Given the description of an element on the screen output the (x, y) to click on. 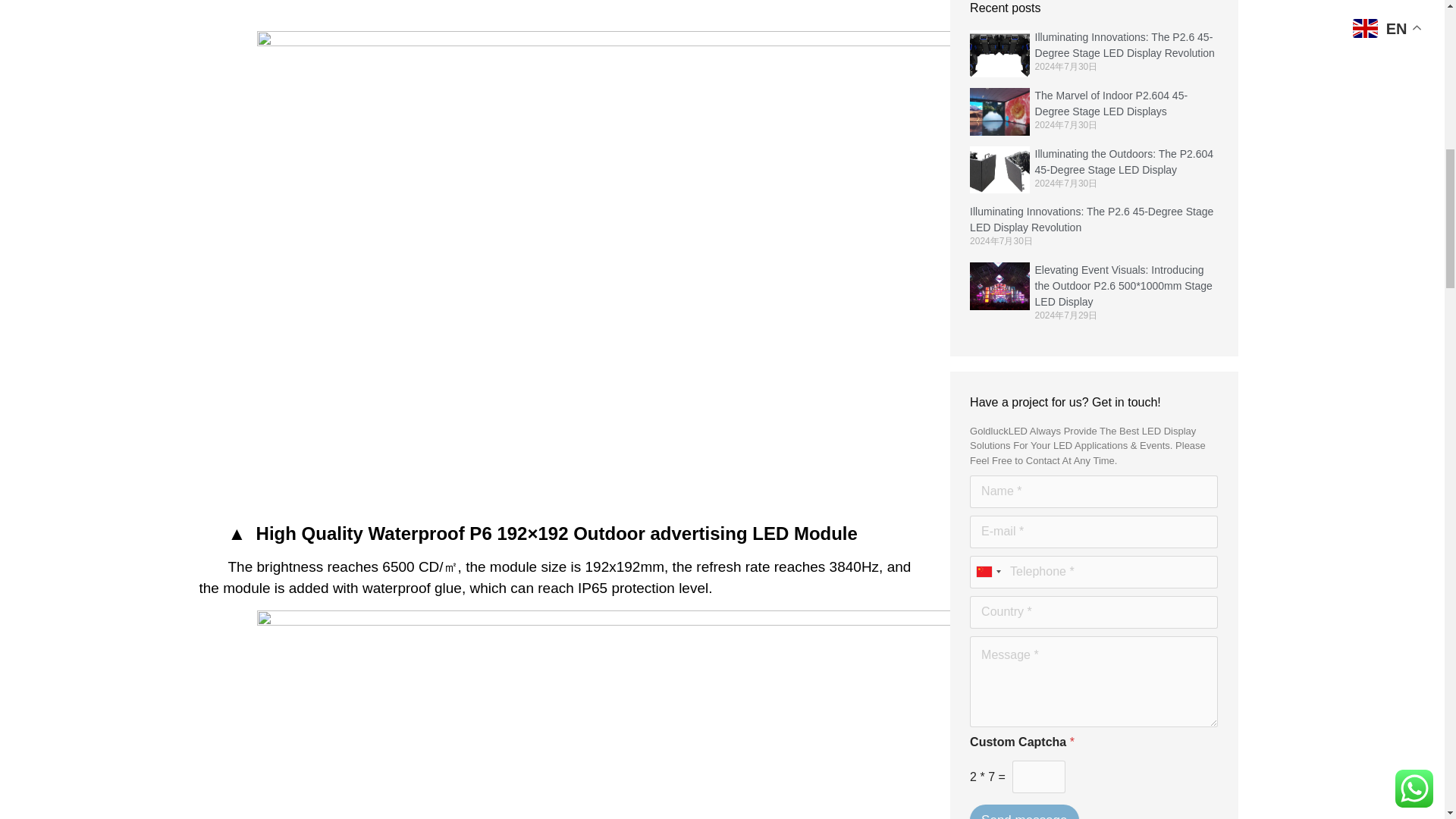
P6 Outdoor module 1109 4 (591, 8)
